Given the description of an element on the screen output the (x, y) to click on. 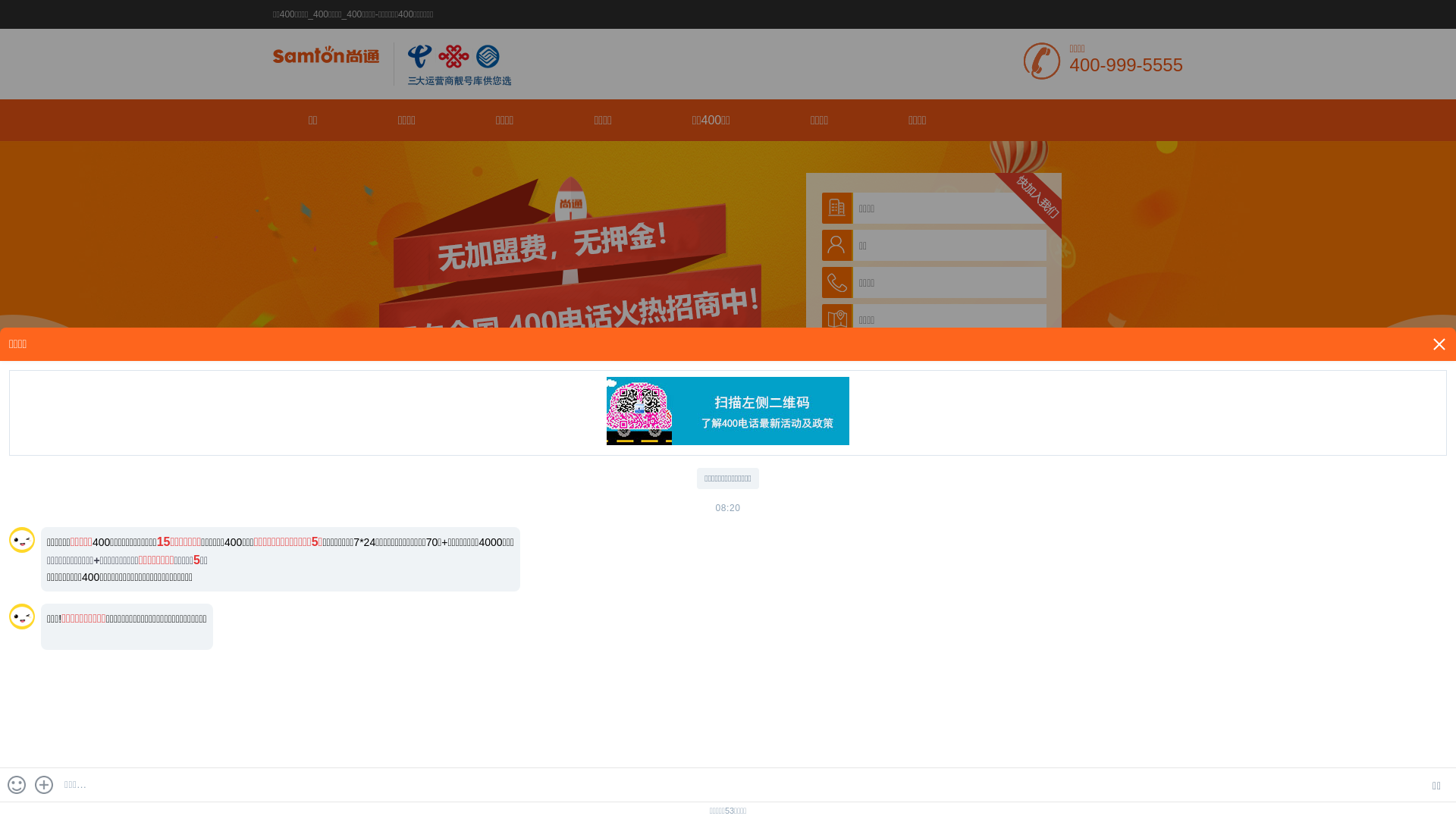
1 Element type: text (1409, 427)
